Given the description of an element on the screen output the (x, y) to click on. 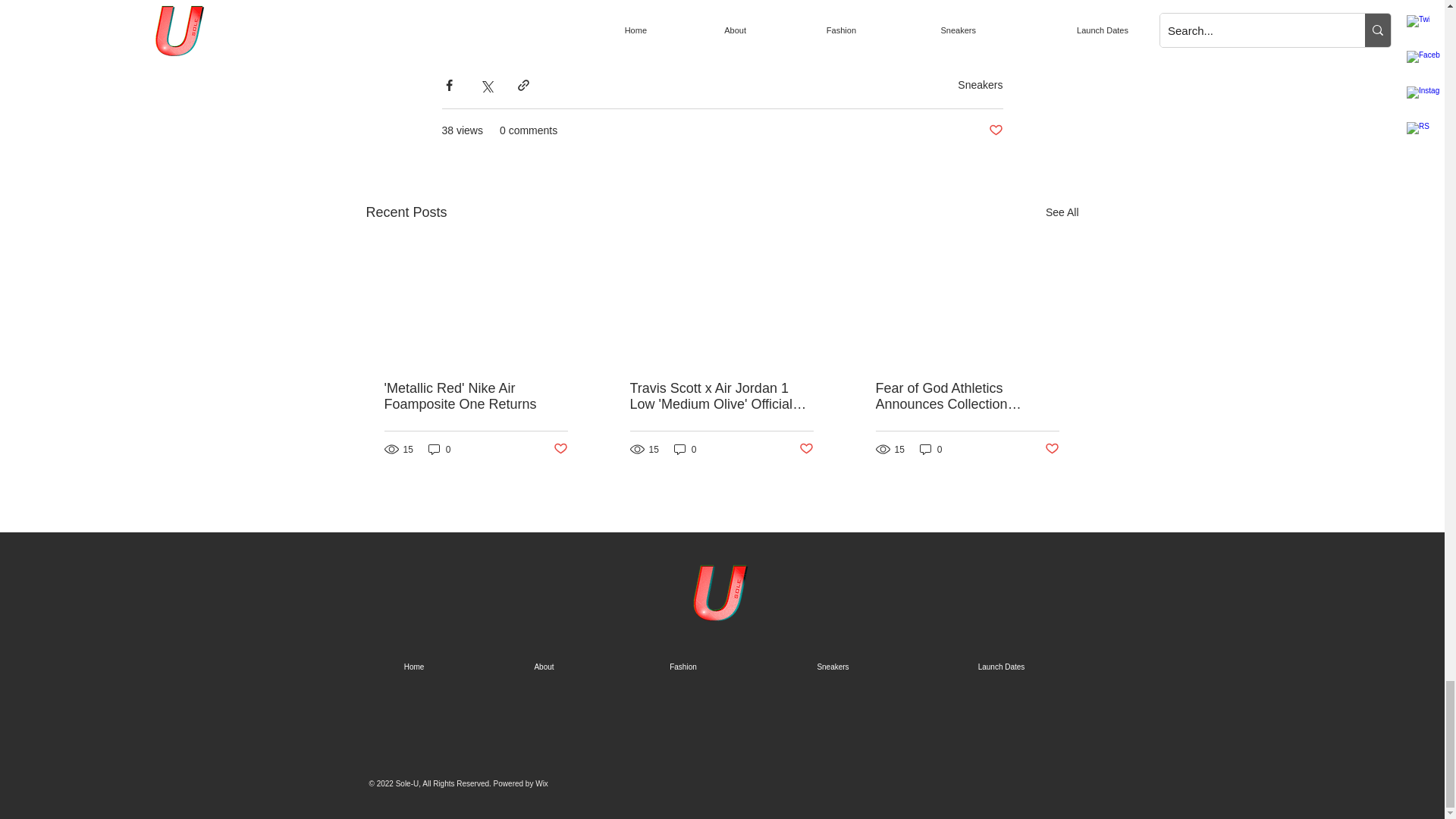
0 (930, 449)
Post not marked as liked (995, 130)
Nike (506, 33)
'Metallic Red' Nike Air Foamposite One Returns (475, 396)
Fear of God Athletics Announces Collection Unveiling (966, 396)
See All (1061, 212)
Penny Hardaway (566, 33)
Fashion (683, 667)
Sneakers (463, 33)
